Given the description of an element on the screen output the (x, y) to click on. 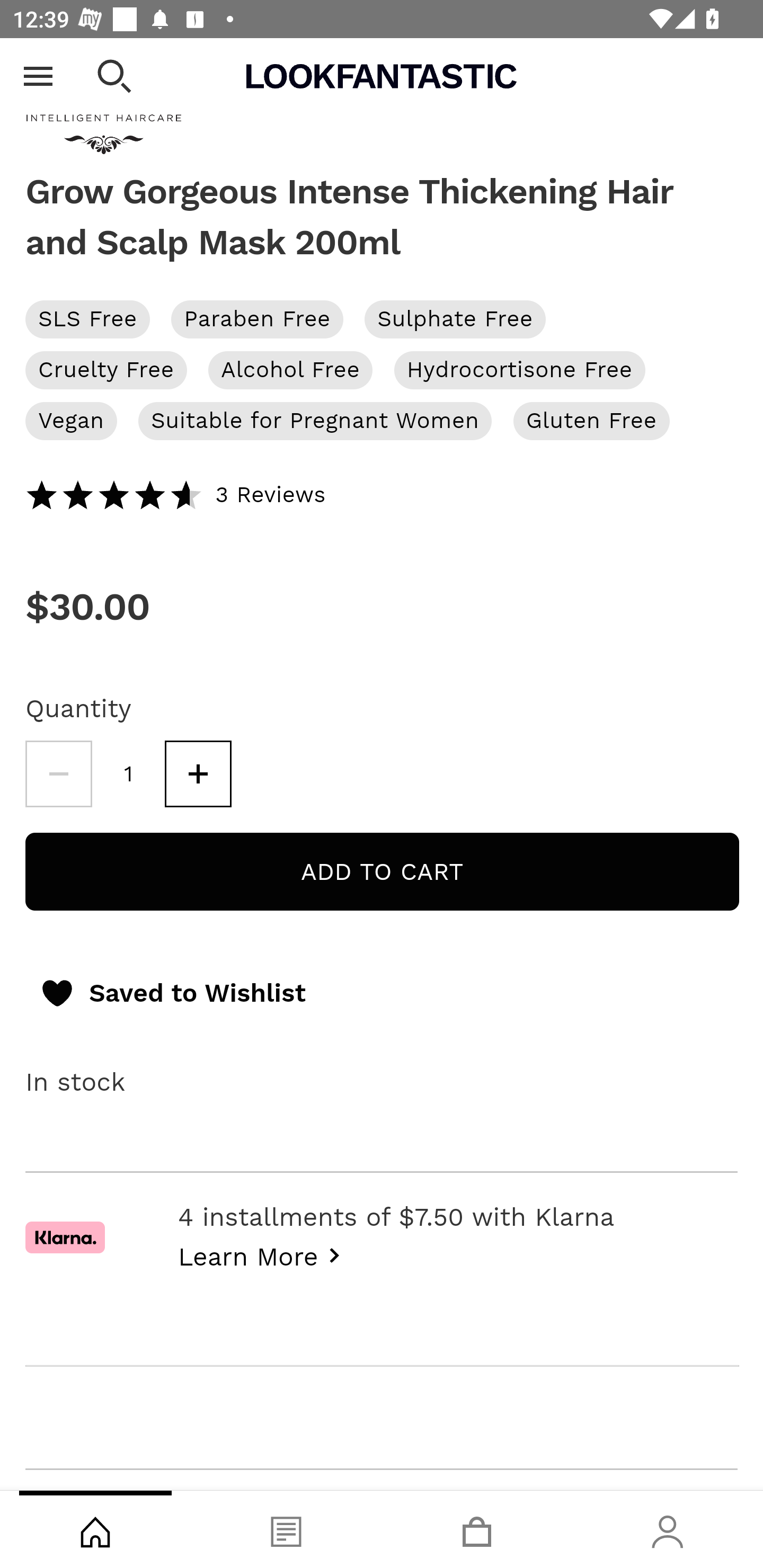
Grow Gorgeous (381, 107)
Decrease quantity (58, 774)
1, Quantity (128, 774)
Increase quantity (197, 774)
Add to cart (382, 872)
Saved to Wishlist (172, 994)
Learn More about klarna_slice (263, 1255)
Shop, tab, 1 of 4 (95, 1529)
Blog, tab, 2 of 4 (285, 1529)
Basket, tab, 3 of 4 (476, 1529)
Account, tab, 4 of 4 (667, 1529)
